Given the description of an element on the screen output the (x, y) to click on. 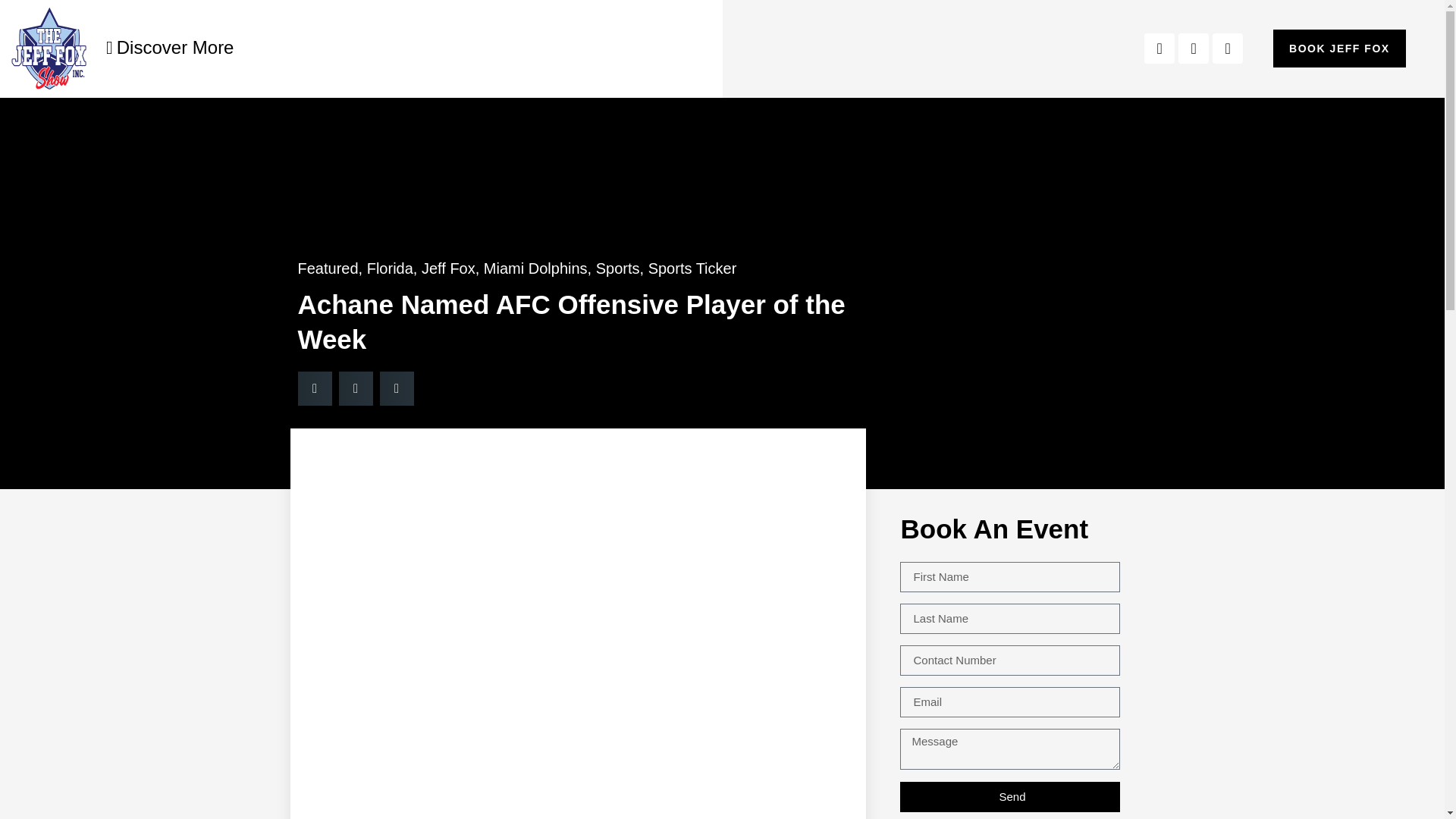
Send (1009, 796)
Sports Ticker (691, 268)
Discover More (169, 46)
Miami Dolphins (535, 268)
BOOK JEFF FOX (1339, 48)
Florida (389, 268)
Featured (327, 268)
Sports (617, 268)
Jeff Fox (449, 268)
